Given the description of an element on the screen output the (x, y) to click on. 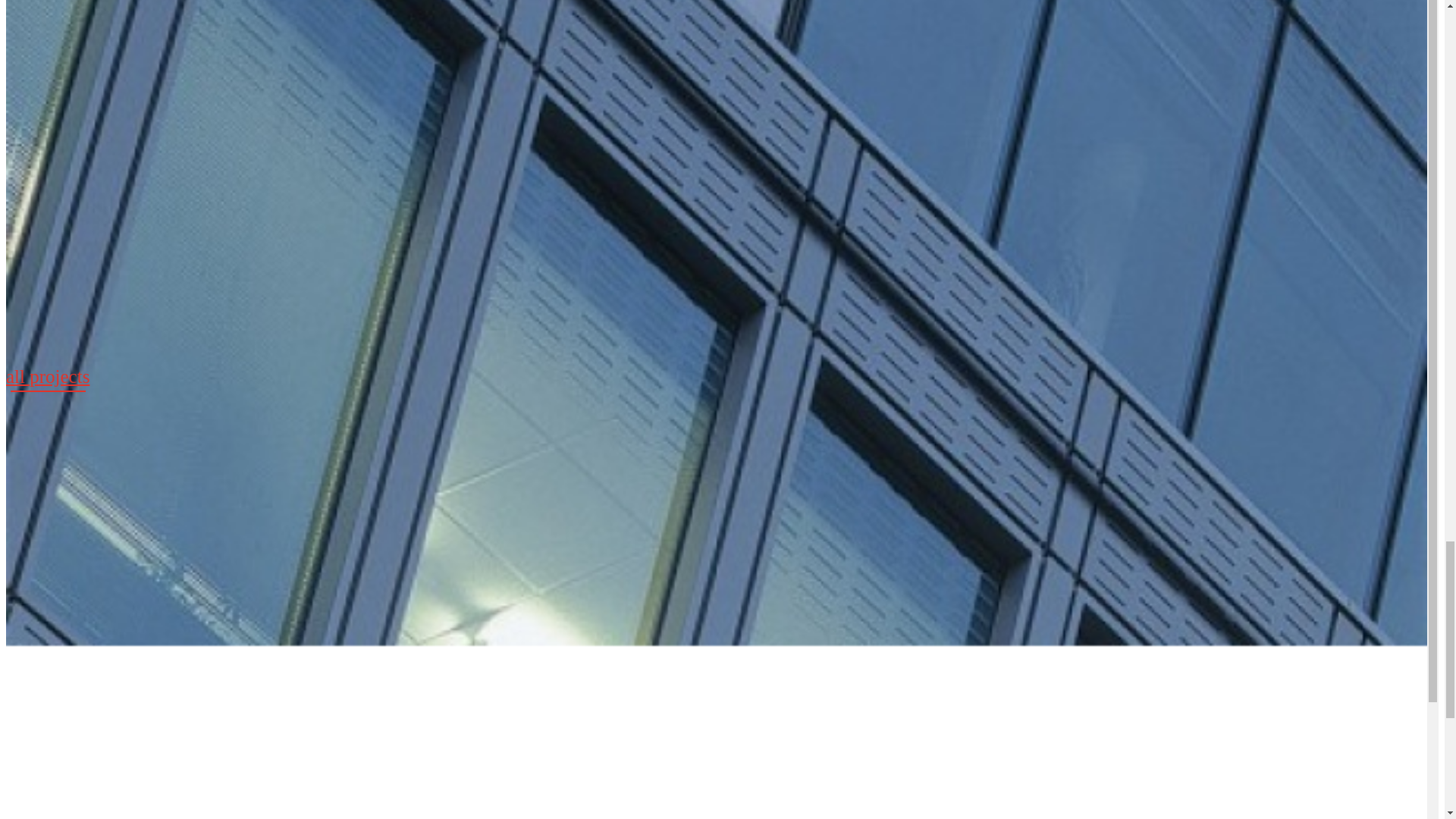
all projects (46, 379)
